Given the description of an element on the screen output the (x, y) to click on. 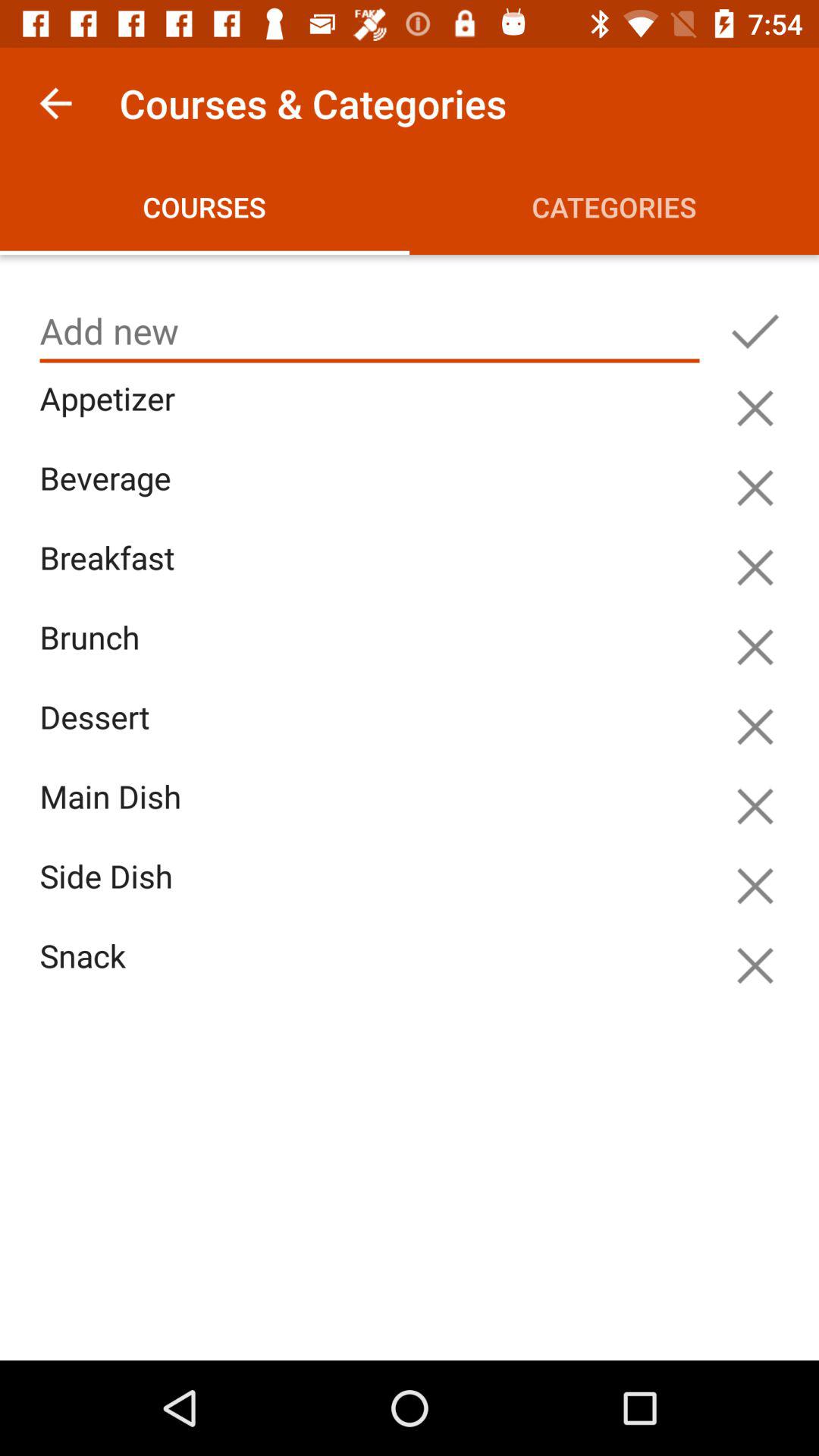
select item above the beverage icon (373, 416)
